Given the description of an element on the screen output the (x, y) to click on. 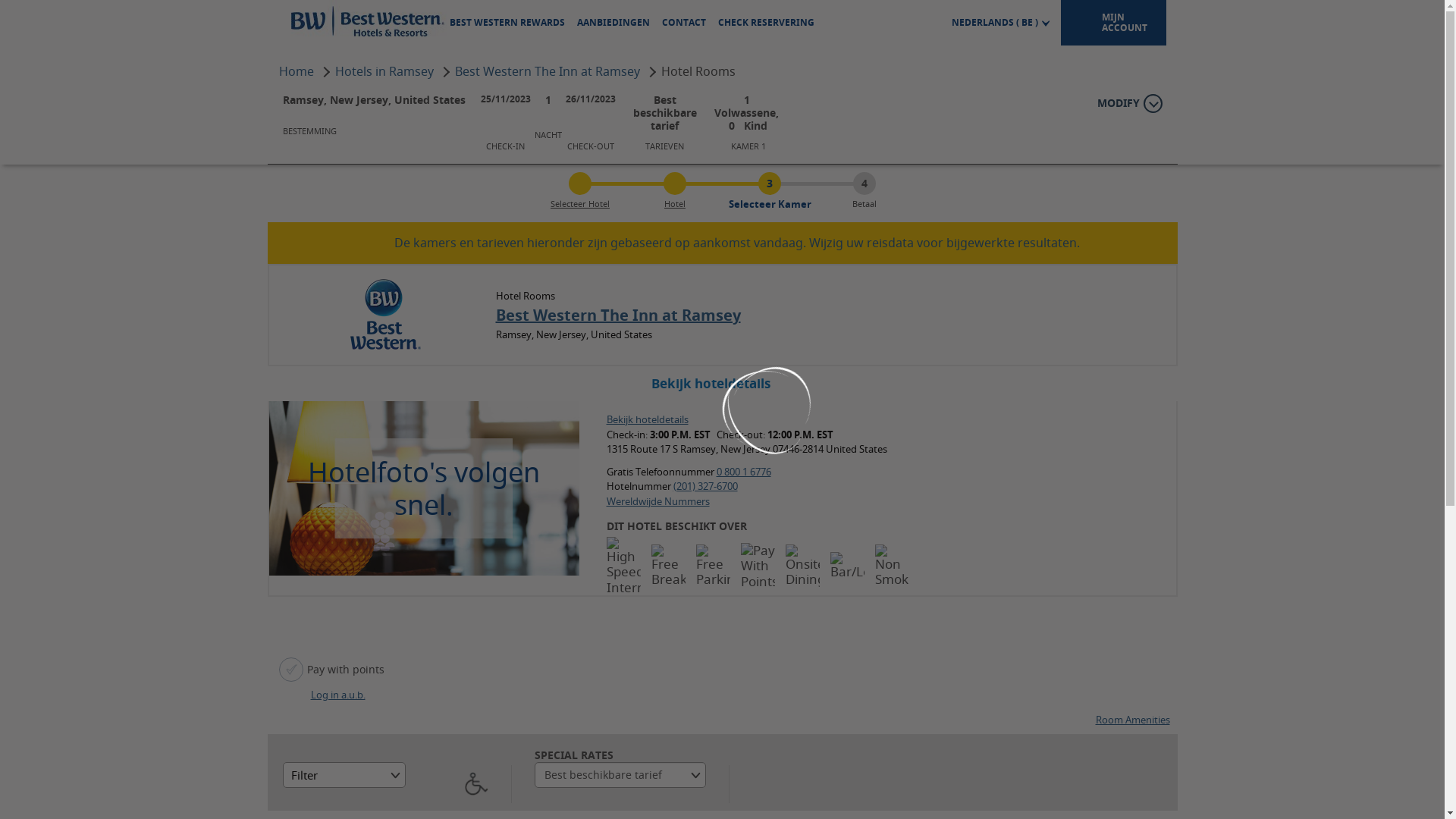
LOGIN Element type: text (1042, 120)
(201) 327-6700 Element type: text (705, 485)
Room Amenities Element type: text (1132, 650)
Home Element type: text (297, 70)
MODIFY Element type: text (1128, 103)
Best beschikbare tarief Element type: text (619, 705)
NEDERLANDS ( BE ) Element type: text (1000, 23)
Free Parking Element type: hover (713, 565)
Bar/Lounge Element type: hover (847, 565)
Pay With Points Element type: hover (757, 565)
Filter Element type: text (343, 705)
Hotels in Ramsey Element type: text (385, 70)
Hotel Element type: text (674, 203)
REGISTREER NU Element type: text (1113, 120)
Onsite Dining Element type: hover (802, 565)
BEST WESTERN REWARDS Element type: text (507, 22)
Bekijk hoteldetails Element type: text (647, 419)
Free Breakfast Element type: hover (668, 565)
Non Smoking Element type: hover (892, 565)
MIJN ACCOUNT Element type: text (1112, 22)
0 800 1 6776 Element type: text (743, 471)
CONTACT Element type: text (683, 22)
CHECK RESERVERING Element type: text (766, 22)
AANBIEDINGEN Element type: text (613, 22)
High Speed Internet Element type: hover (623, 565)
Selecteer Hotel Element type: text (579, 203)
Best Western The Inn at Ramsey Element type: text (617, 314)
Best Western The Inn at Ramsey Element type: text (549, 70)
Wereldwijde Nummers Element type: text (657, 501)
